Given the description of an element on the screen output the (x, y) to click on. 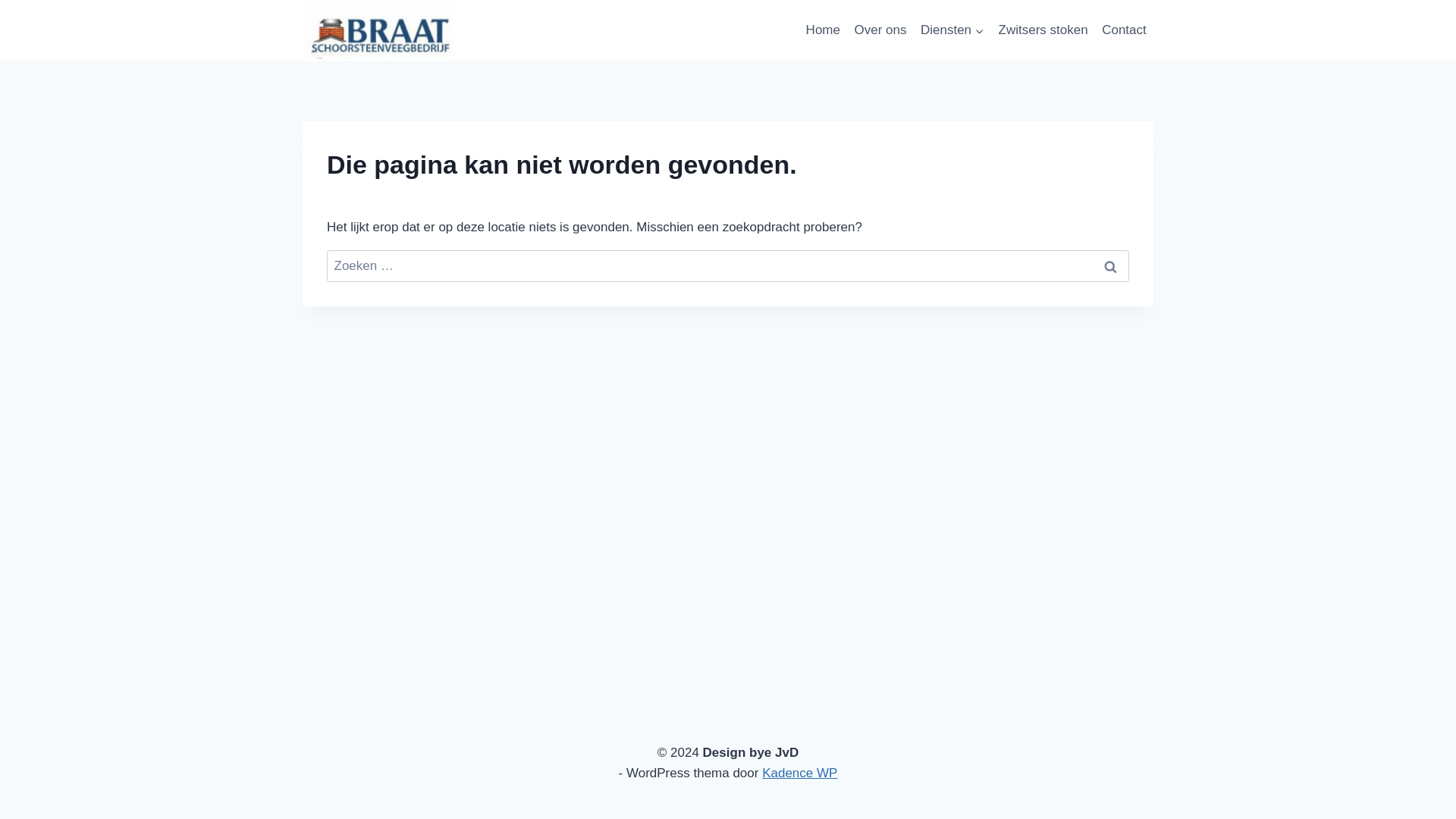
Diensten (952, 30)
Over ons (879, 30)
Home (822, 30)
Kadence WP (799, 772)
Zoeken (1109, 266)
Zwitsers stoken (1042, 30)
Contact (1123, 30)
Zoeken (1109, 266)
Zoeken (1109, 266)
